Given the description of an element on the screen output the (x, y) to click on. 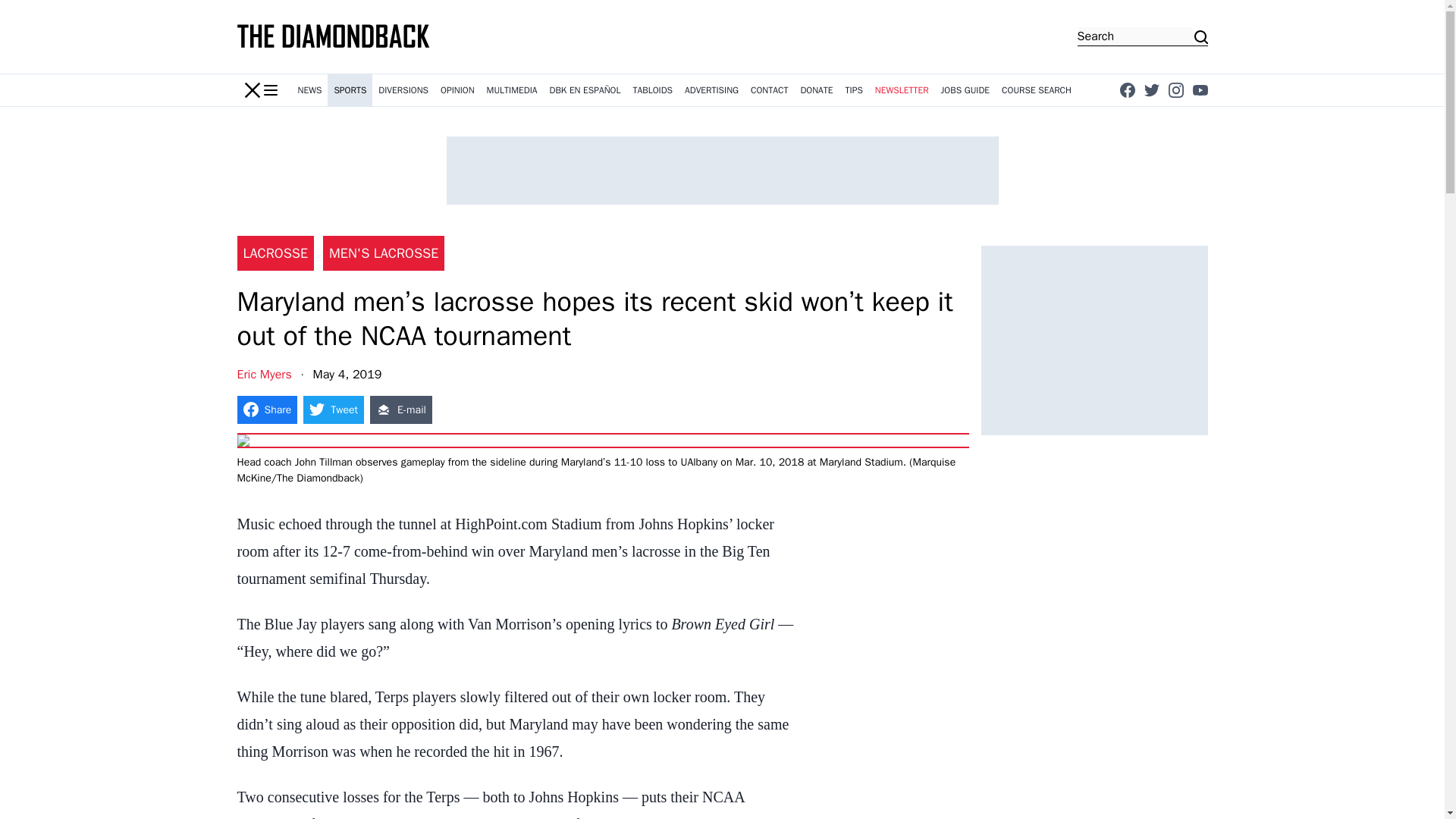
Newsletter (901, 90)
ADVERTISING (711, 90)
DONATE (815, 90)
Jobs Guide (964, 90)
CONTACT (768, 90)
Tips (854, 90)
TABLOIDS (652, 90)
MULTIMEDIA (511, 90)
Multimedia (511, 90)
News (309, 90)
SPORTS (349, 90)
Donate (815, 90)
The Diamondback (332, 36)
DIVERSIONS (402, 90)
JOBS GUIDE (964, 90)
